Given the description of an element on the screen output the (x, y) to click on. 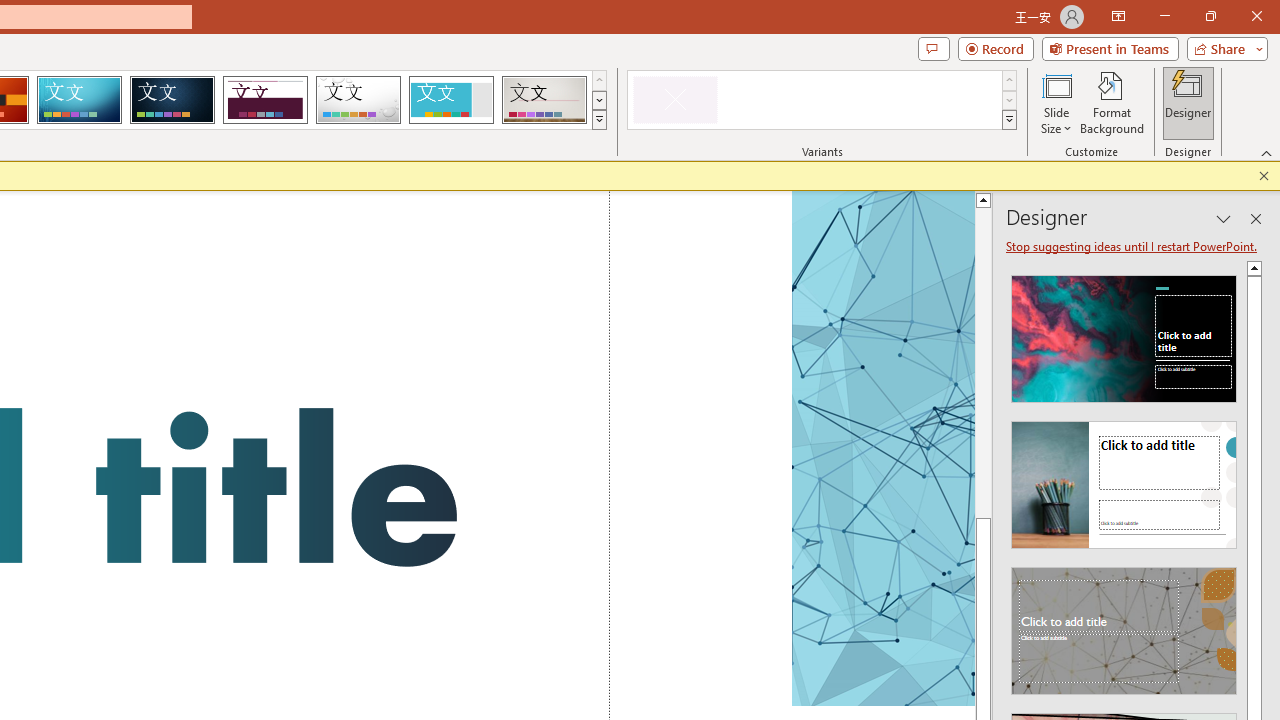
Damask (171, 100)
Format Background (1111, 102)
Circuit (79, 100)
Close this message (1263, 176)
Recommended Design: Design Idea (1124, 332)
Variants (1009, 120)
Droplet (358, 100)
